Given the description of an element on the screen output the (x, y) to click on. 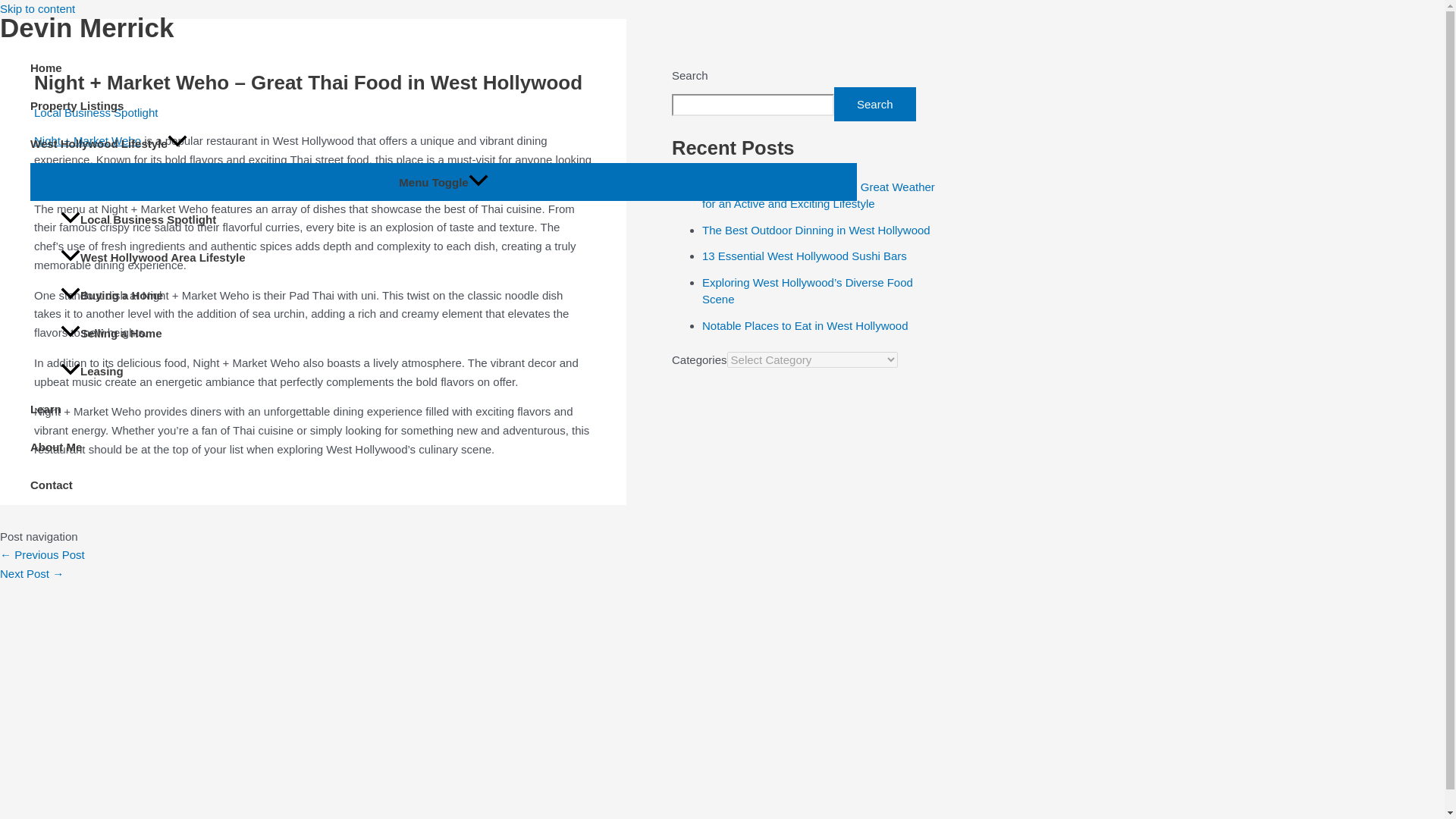
Skip to content (37, 8)
Property Listings (443, 105)
Notable Places to Eat in West Hollywood (804, 325)
Buying a Home (459, 295)
Skip to content (37, 8)
West Hollywood Area Lifestyle (459, 257)
Local Business Spotlight (95, 112)
Contact (443, 485)
Learn (443, 409)
